Given the description of an element on the screen output the (x, y) to click on. 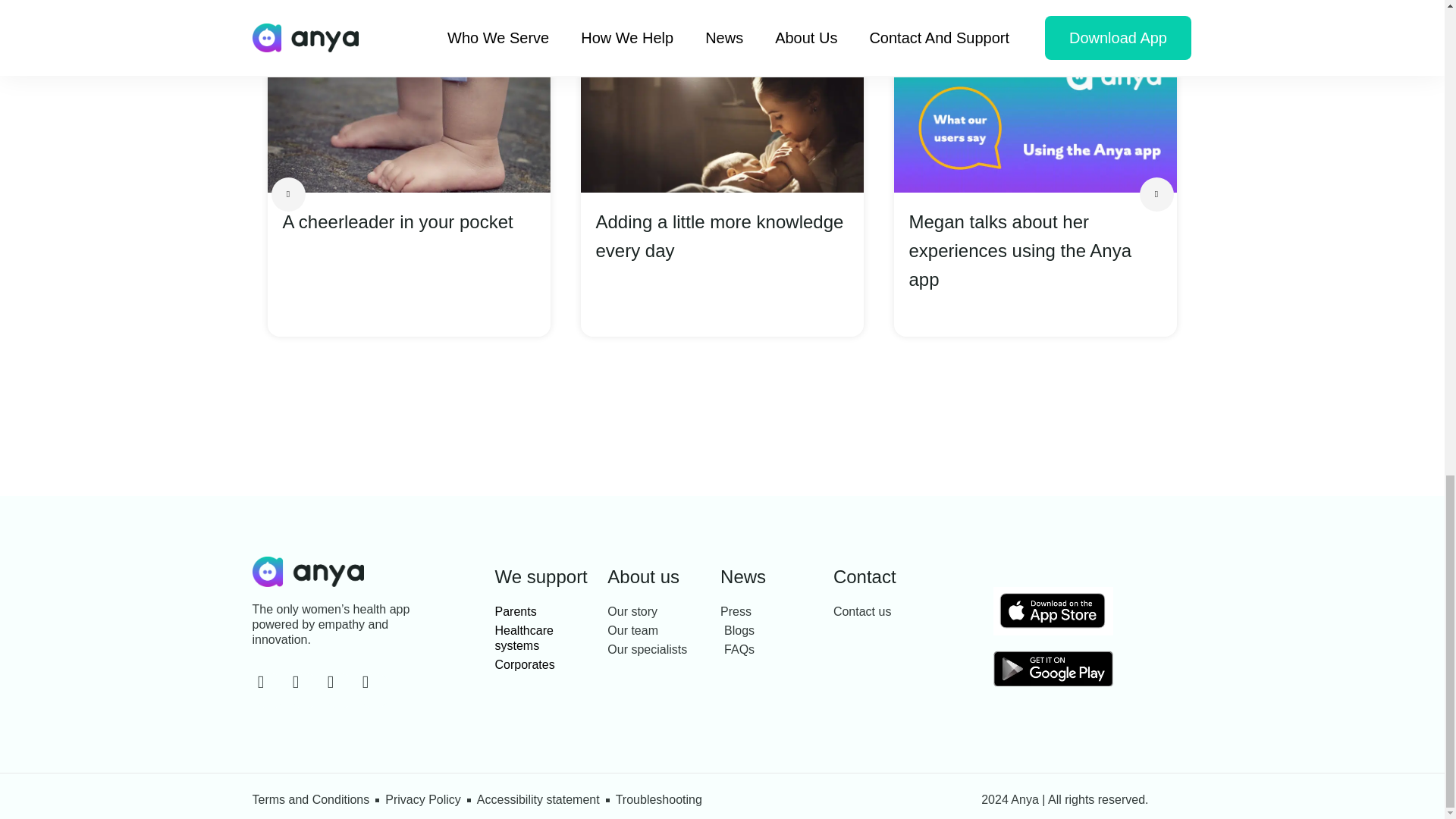
Megan talks about her experiences using the Anya app (1034, 251)
next item (1155, 194)
previous item (287, 194)
A cheerleader in your pocket (408, 222)
Adding a little more knowledge every day (721, 236)
